Given the description of an element on the screen output the (x, y) to click on. 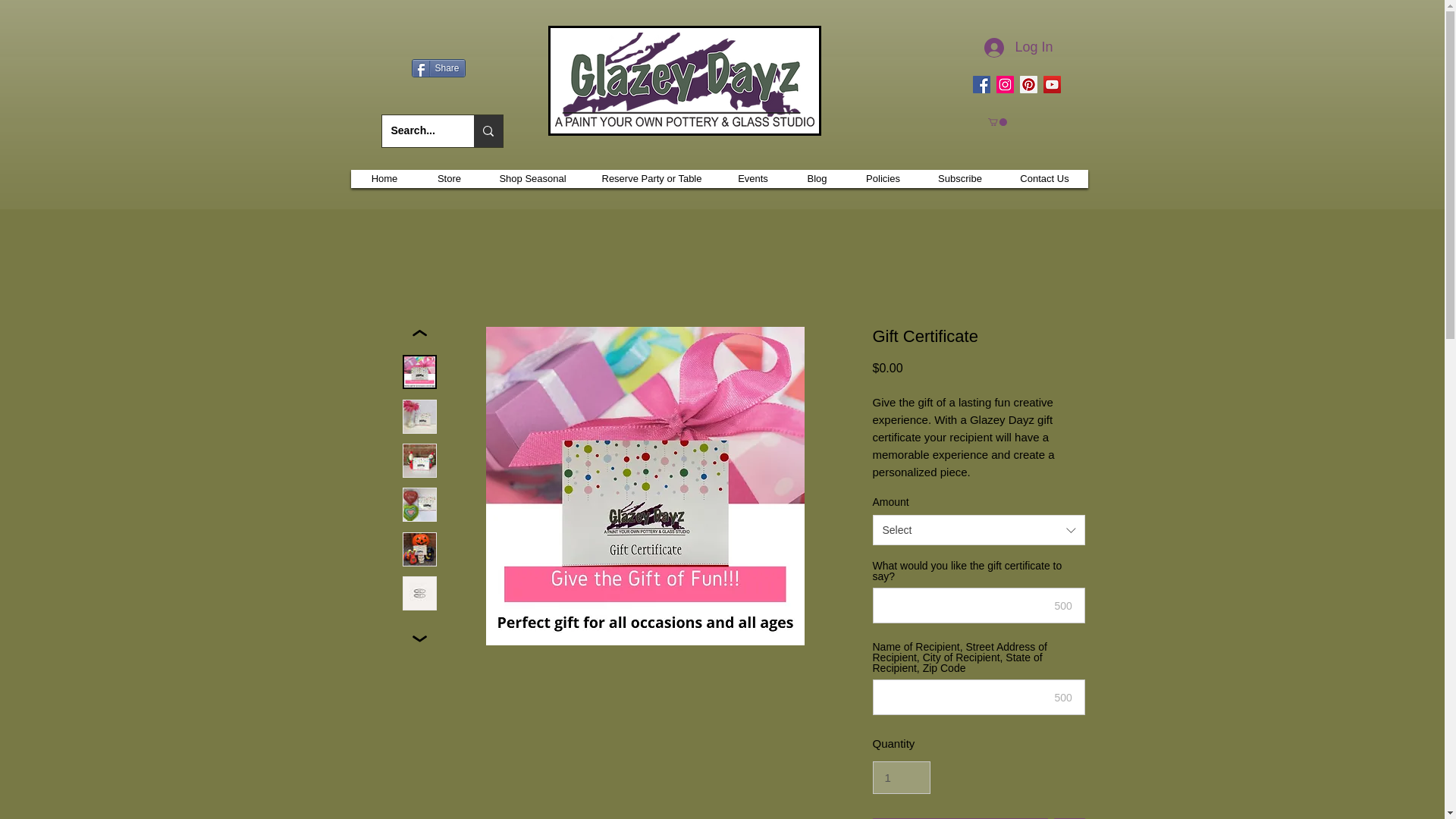
Share (437, 67)
Share (437, 67)
1 (901, 777)
Policies (882, 178)
Contact Us (1044, 178)
Log In (1018, 47)
Reserve Party or Table (652, 178)
Events (752, 178)
Subscribe (959, 178)
Blog (816, 178)
